Given the description of an element on the screen output the (x, y) to click on. 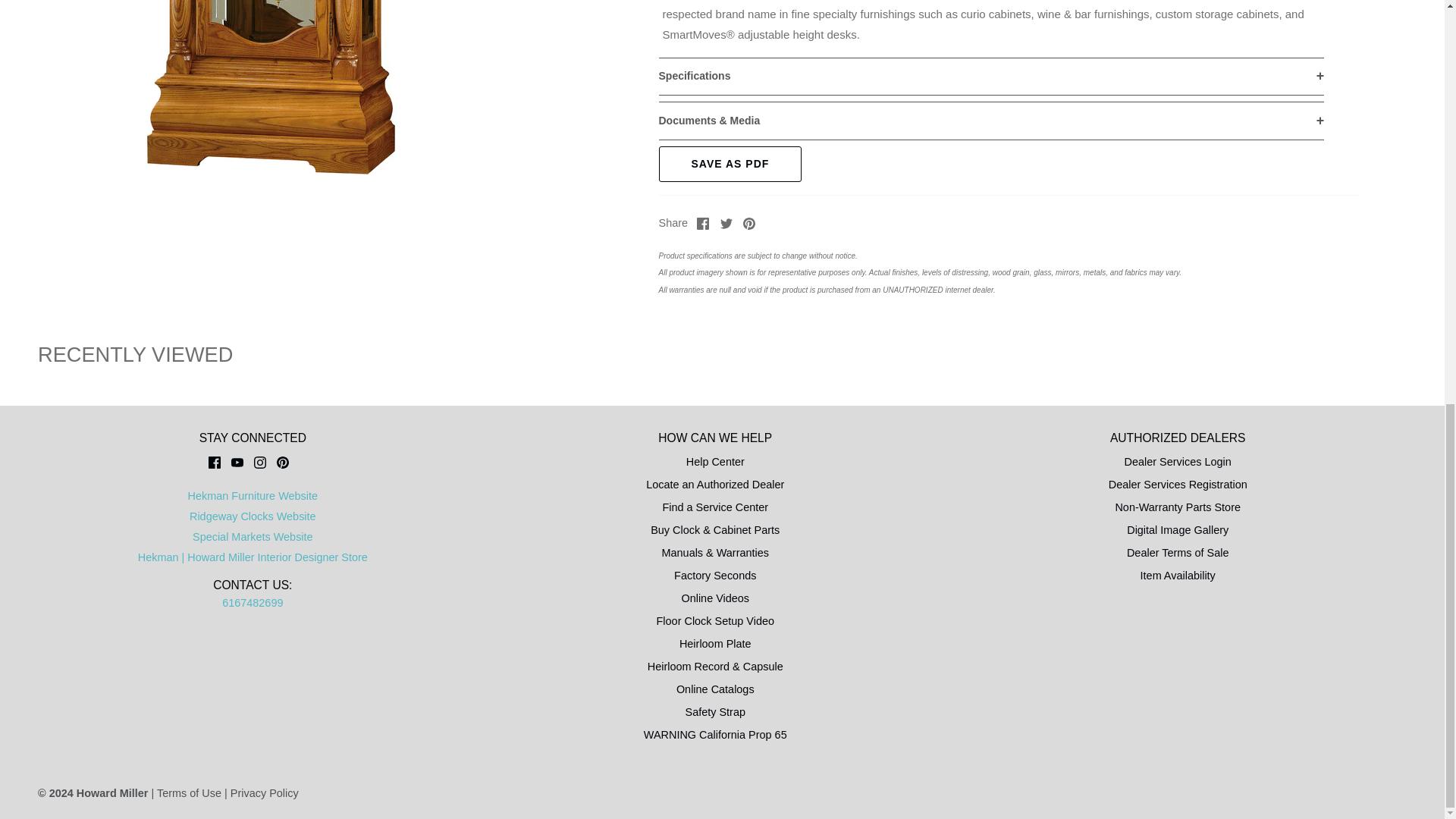
Facebook (703, 223)
Facebook (214, 462)
Youtube (237, 462)
Pinterest (282, 462)
Twitter (726, 223)
Pinterest (748, 223)
Instagram (259, 462)
